Given the description of an element on the screen output the (x, y) to click on. 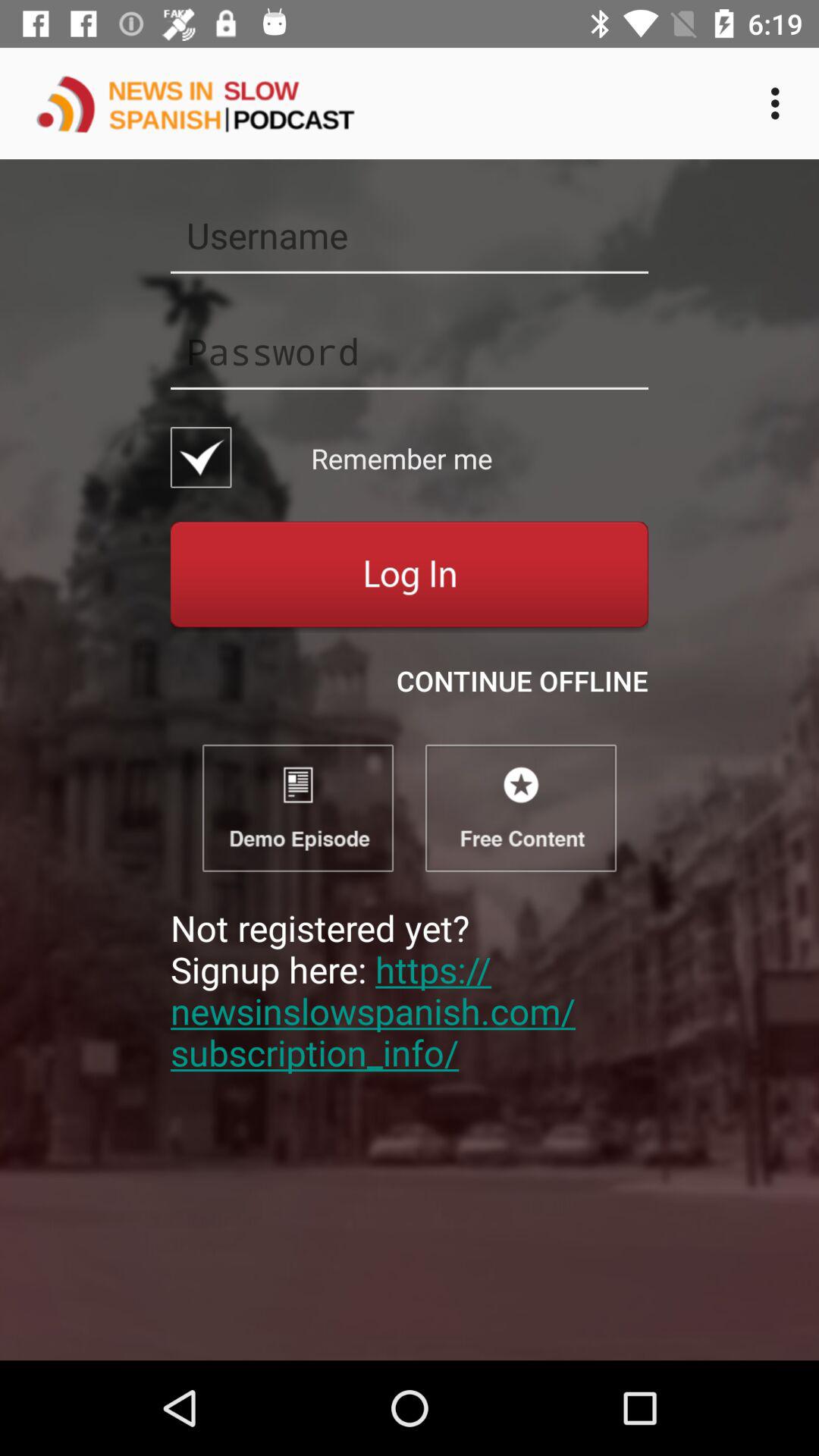
click here to log in (409, 577)
